Given the description of an element on the screen output the (x, y) to click on. 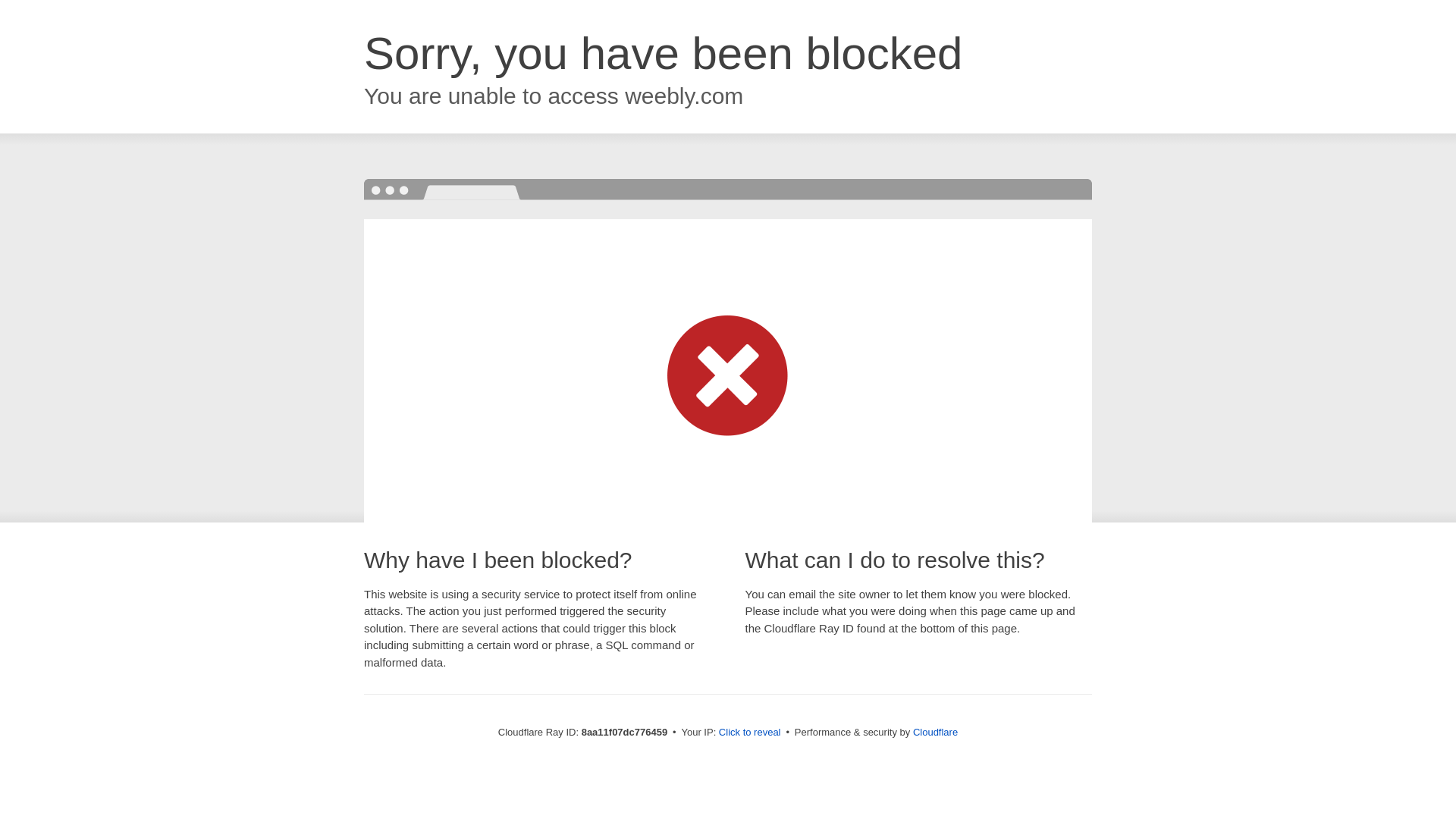
Click to reveal (749, 732)
Cloudflare (935, 731)
